Given the description of an element on the screen output the (x, y) to click on. 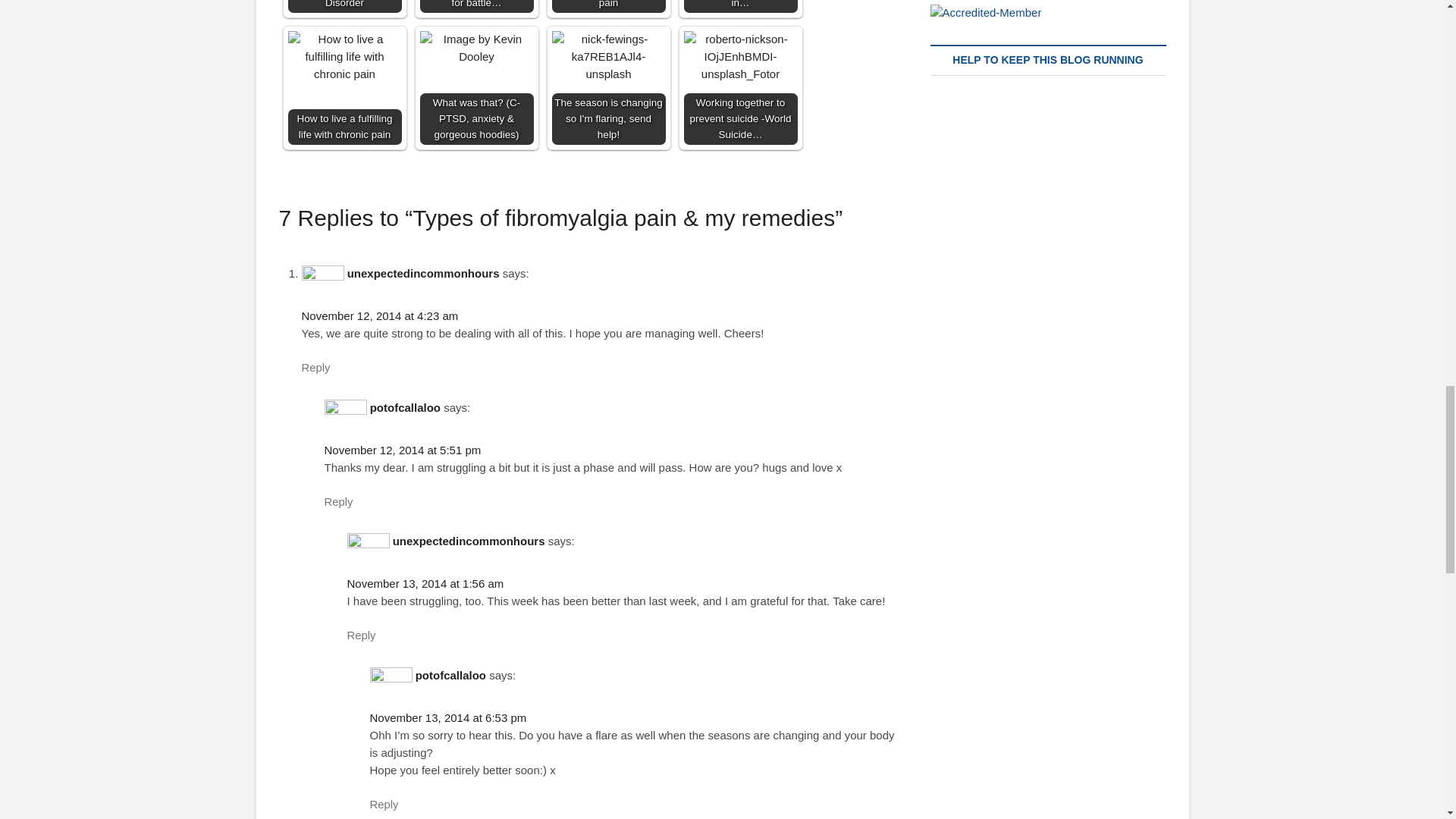
The season is changing so I'm flaring, send help! (608, 57)
12 things that helped me to smile despite the pain (608, 6)
My battle with Borderline Personality Disorder (344, 6)
How to live a fulfilling life with chronic pain (344, 57)
